Given the description of an element on the screen output the (x, y) to click on. 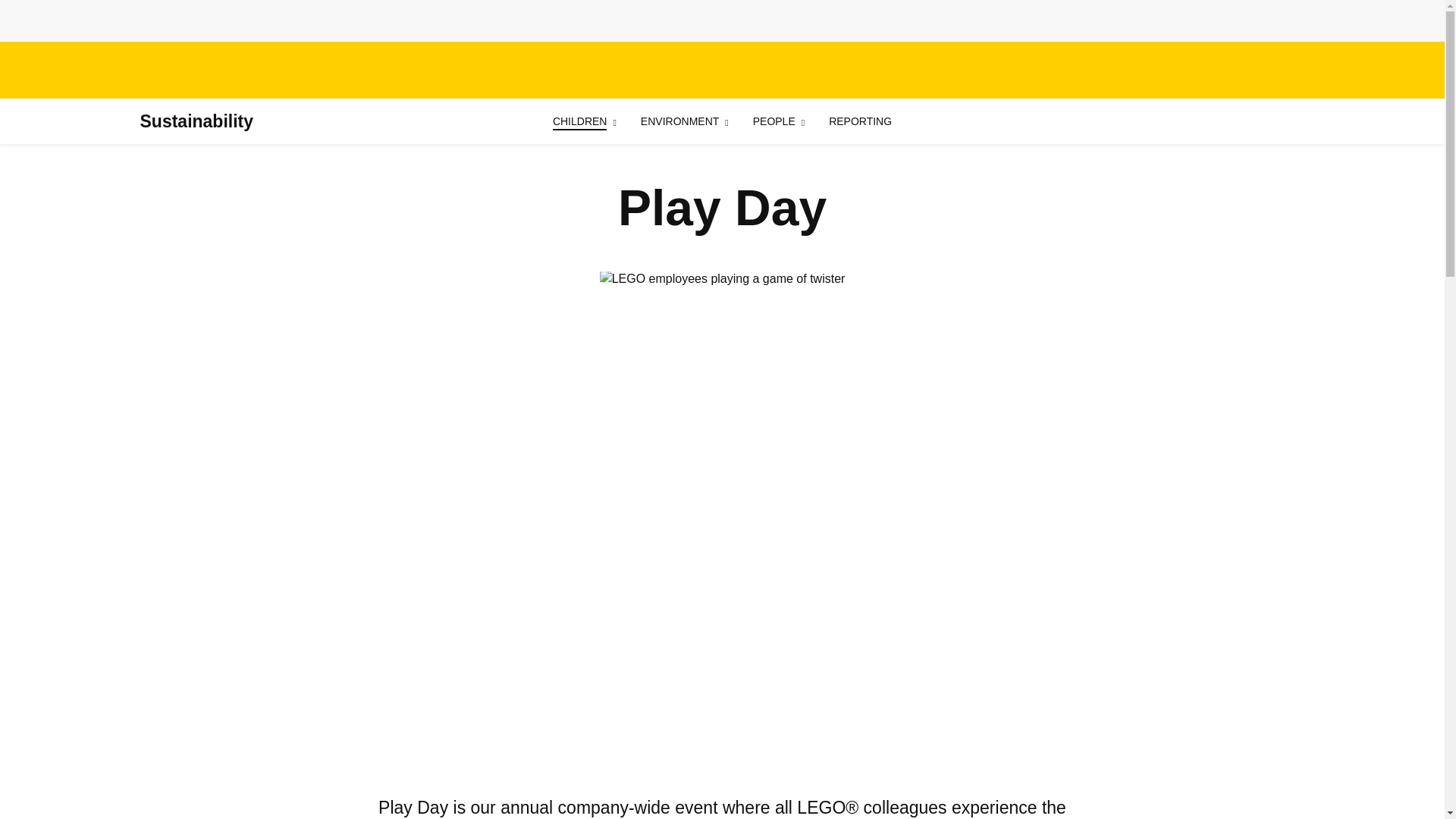
PEOPLE (774, 121)
Sustainability (196, 120)
ENVIRONMENT (679, 121)
REPORTING (860, 121)
CHILDREN (580, 121)
